Given the description of an element on the screen output the (x, y) to click on. 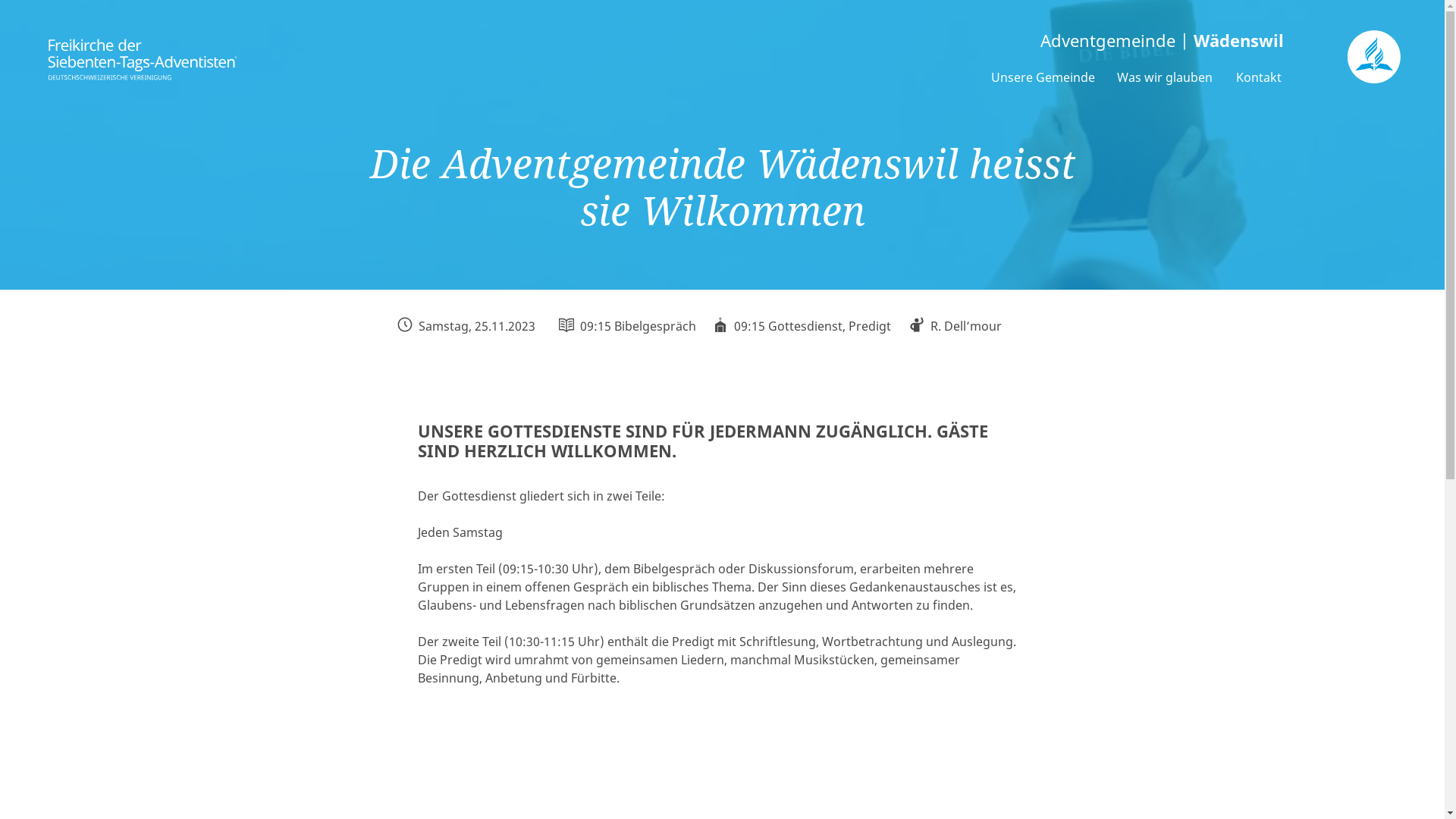
Adventgemeinde | Element type: text (793, 40)
Unsere Gemeinde Element type: text (1042, 77)
Kontakt Element type: text (1258, 77)
Was wir glauben Element type: text (1164, 77)
